Given the description of an element on the screen output the (x, y) to click on. 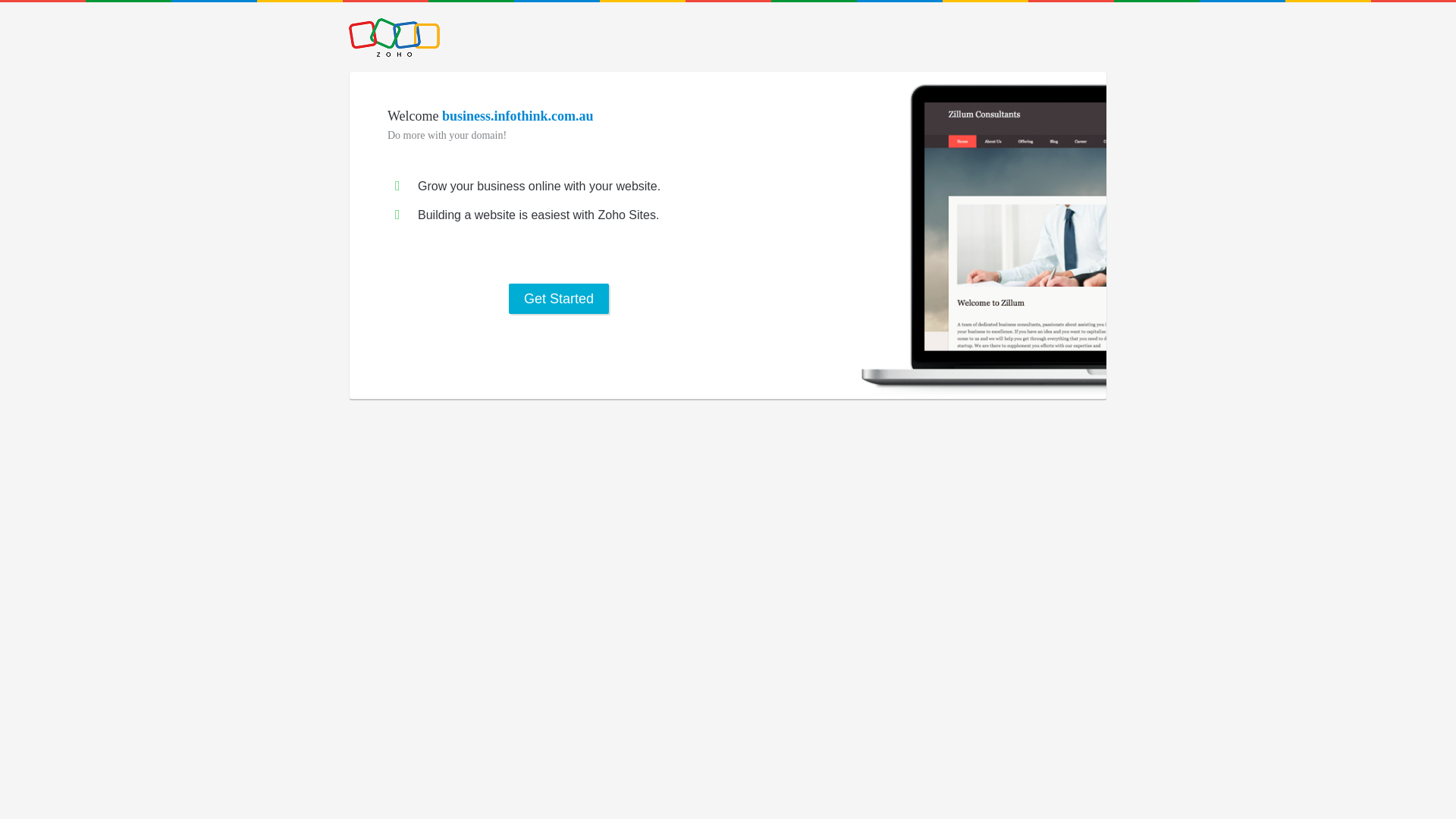
Get Started Element type: text (558, 298)
